Given the description of an element on the screen output the (x, y) to click on. 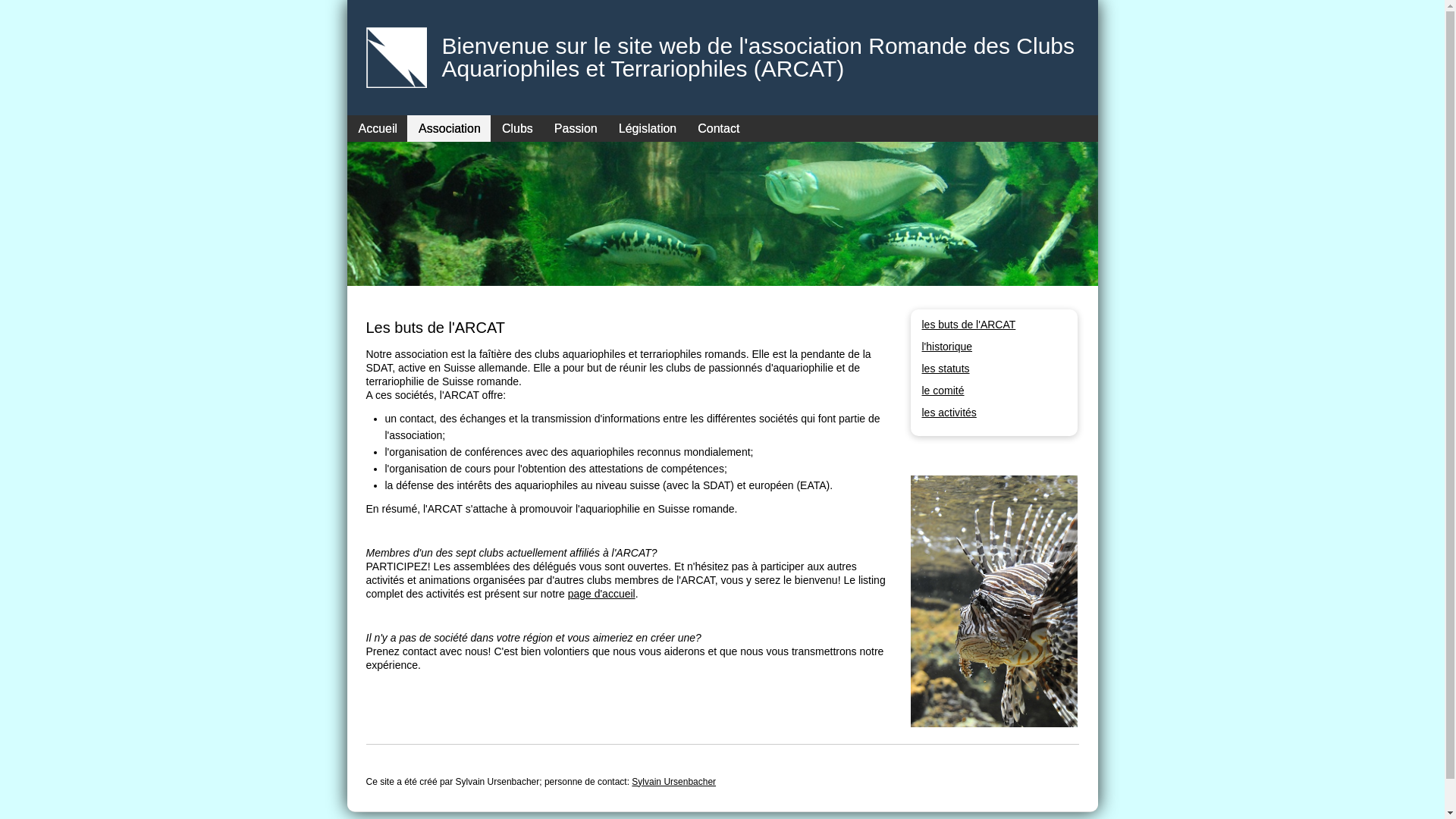
l'historique Element type: text (947, 346)
Accueil Element type: text (377, 128)
les buts de l'ARCAT Element type: text (969, 324)
Passion Element type: text (574, 128)
Sylvain Ursenbacher Element type: text (673, 781)
Clubs Element type: text (516, 128)
les statuts Element type: text (945, 368)
Contact Element type: text (714, 128)
Association Element type: text (448, 128)
page d'accueil Element type: text (601, 593)
